Given the description of an element on the screen output the (x, y) to click on. 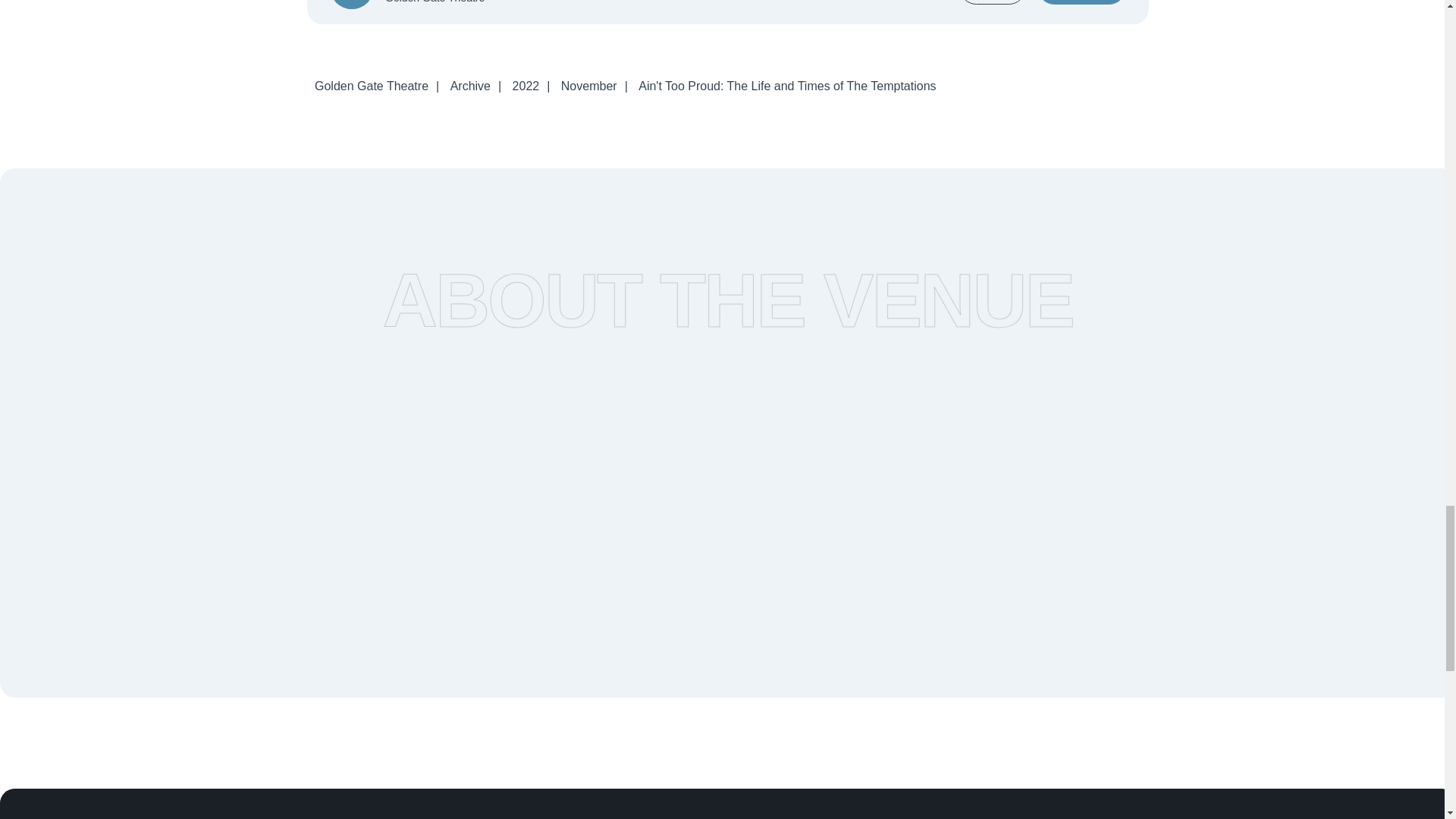
Archive (469, 85)
TICKETS (1080, 2)
INFO (992, 2)
November (588, 85)
2022 (526, 85)
Golden Gate Theatre (371, 85)
